Given the description of an element on the screen output the (x, y) to click on. 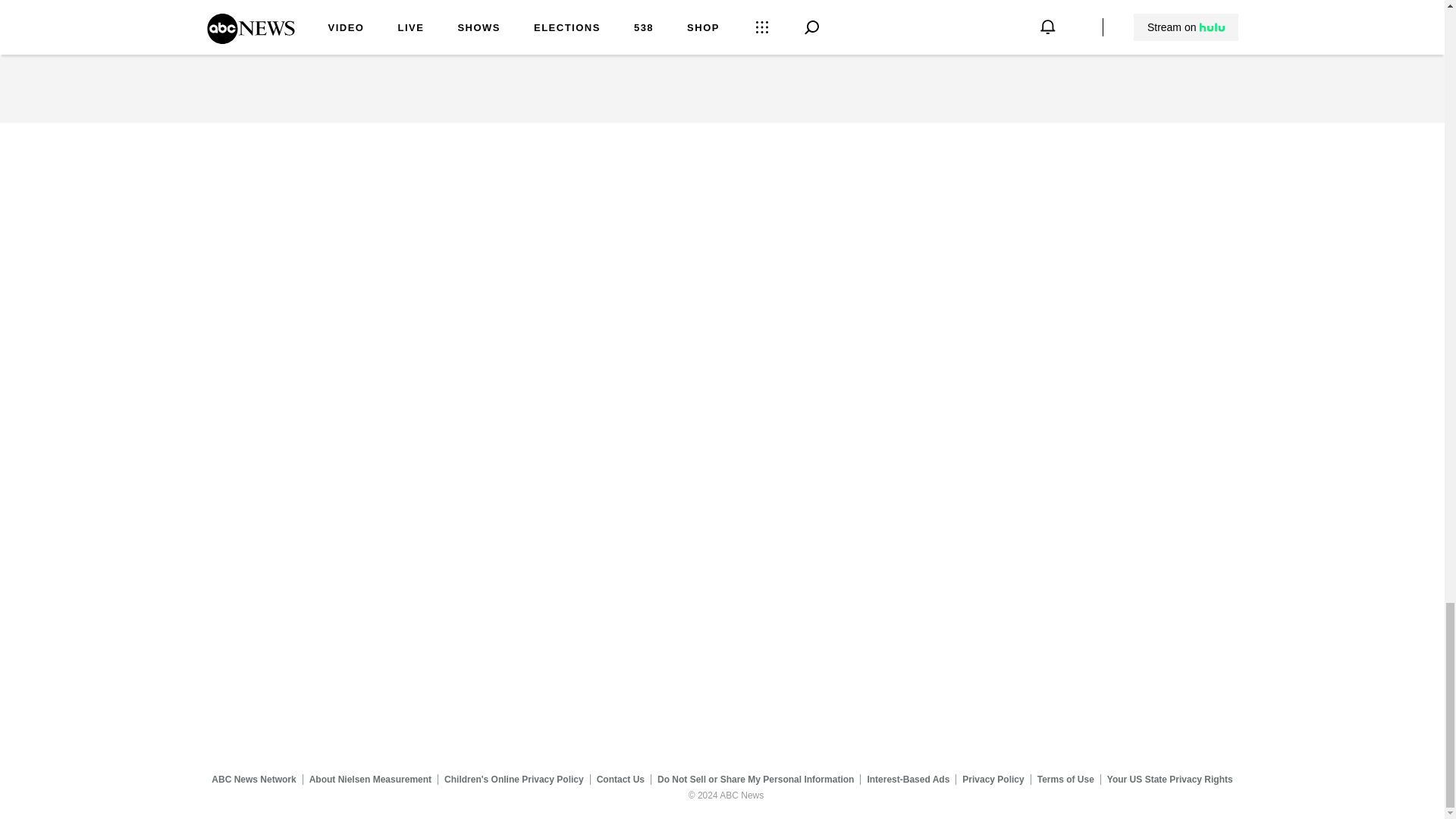
Interest-Based Ads (908, 778)
Contact Us (620, 778)
Terms of Use (1065, 778)
ABC News Network (253, 778)
About Nielsen Measurement (370, 778)
Privacy Policy (993, 778)
Do Not Sell or Share My Personal Information (755, 778)
Children's Online Privacy Policy (514, 778)
Your US State Privacy Rights (1169, 778)
